Given the description of an element on the screen output the (x, y) to click on. 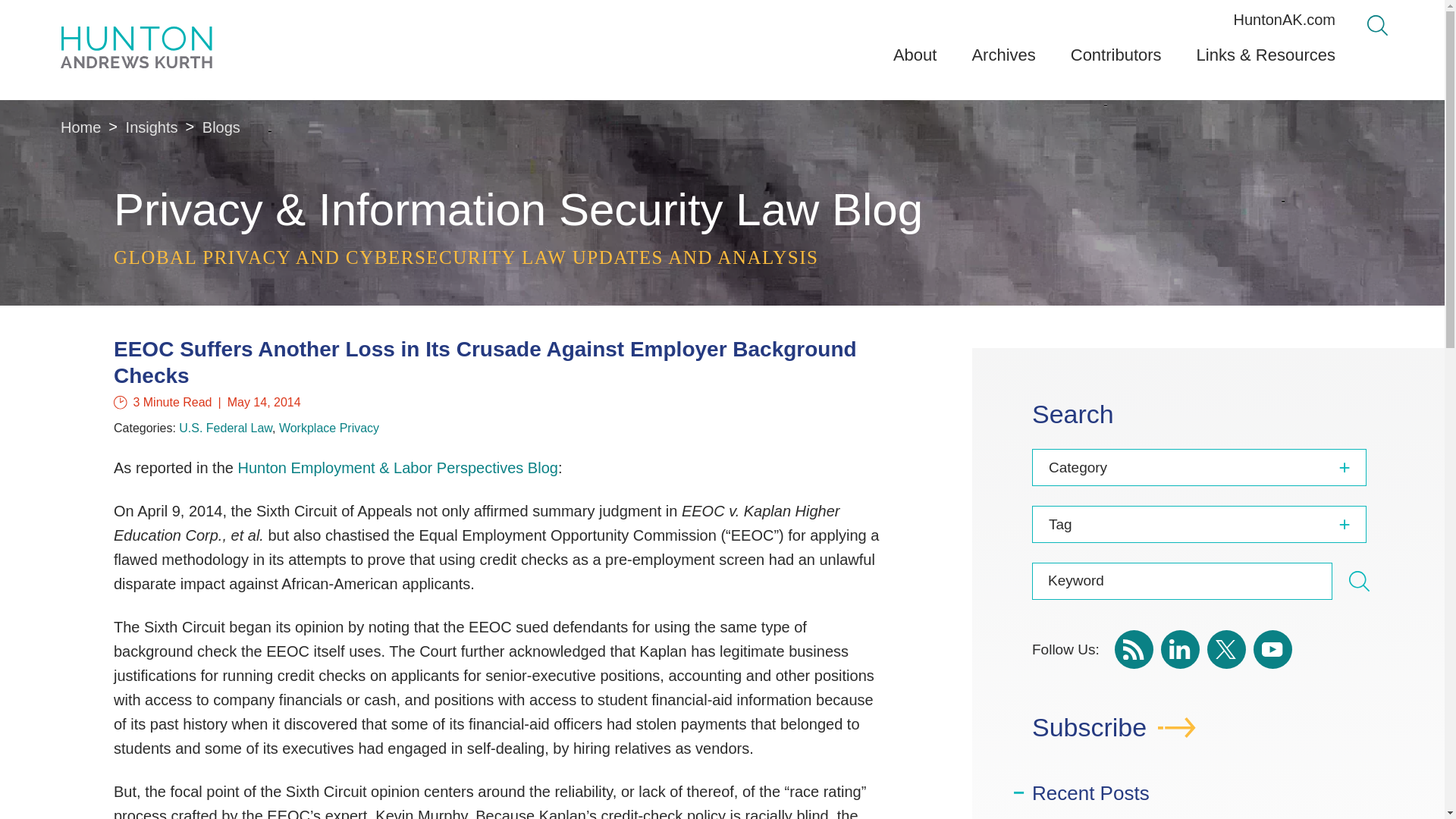
Search (1359, 580)
Home (80, 126)
Search (1358, 584)
X (1226, 649)
Insights (151, 126)
Linkedin (1179, 649)
Menu (680, 17)
Main Menu (680, 17)
Youtube (1272, 649)
Contributors (1115, 60)
